Given the description of an element on the screen output the (x, y) to click on. 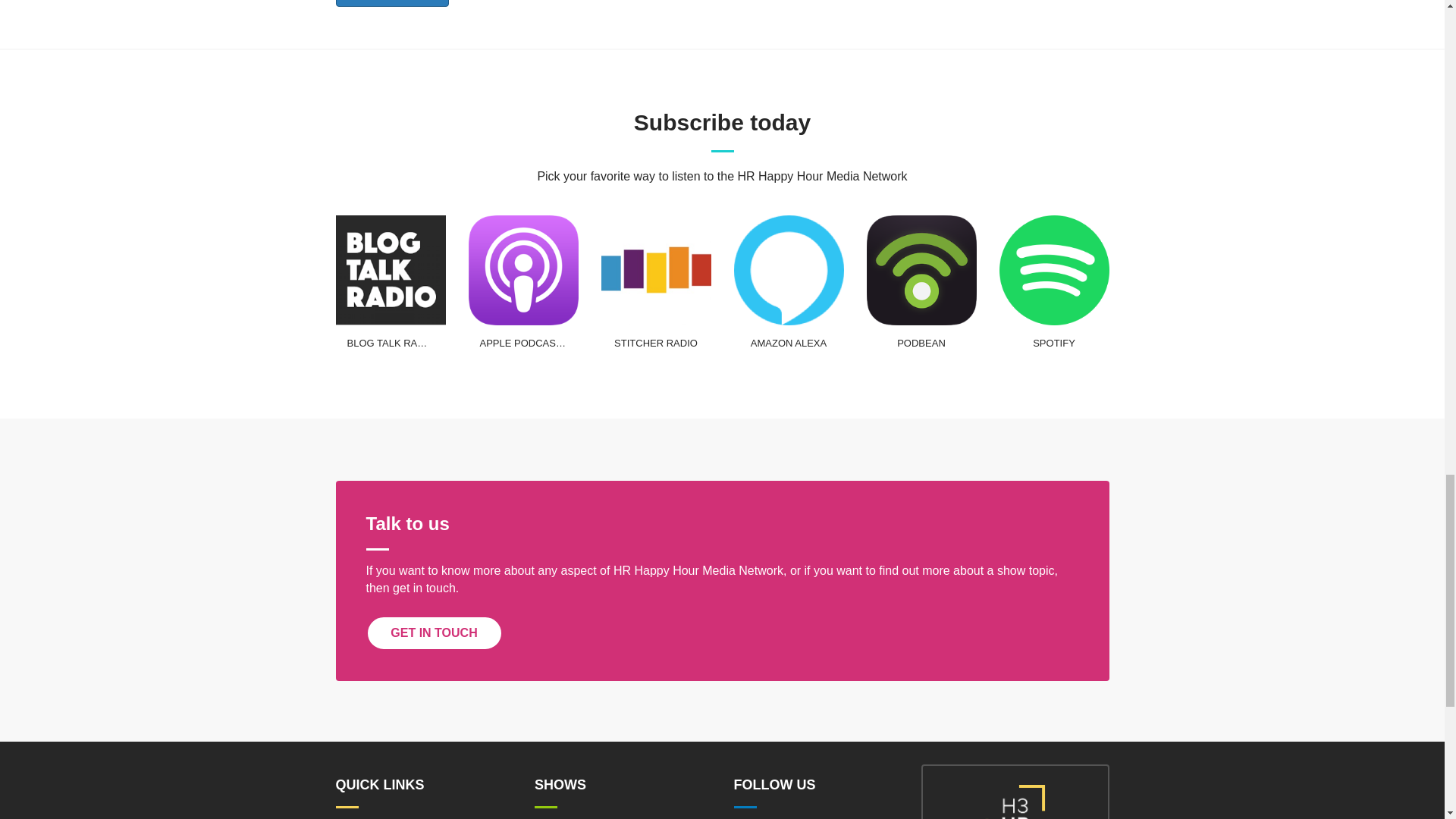
logo-stitcher (654, 270)
logo-podbean (920, 270)
logo-applepodcasts (523, 270)
logo-blogtalkradio (389, 270)
logo-amazonecho (788, 270)
Submit Comment (391, 3)
logo-h3hr (1015, 801)
Submit Comment (391, 3)
